Given the description of an element on the screen output the (x, y) to click on. 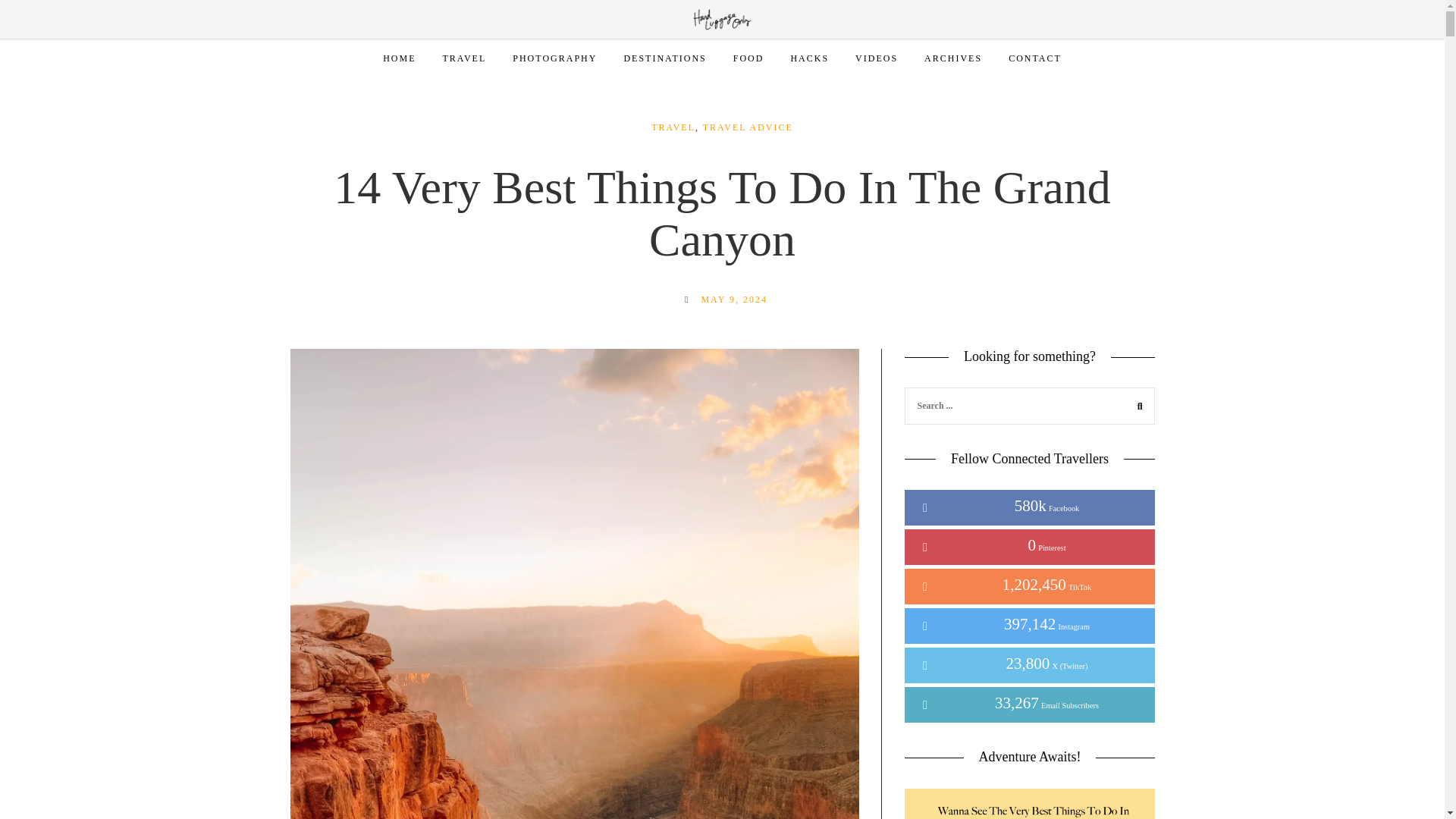
Search for : (1029, 405)
May 9, 2024 (733, 299)
TRAVEL (464, 58)
PHOTOGRAPHY (554, 58)
Hand Luggage Only (722, 18)
HOME (398, 58)
